Given the description of an element on the screen output the (x, y) to click on. 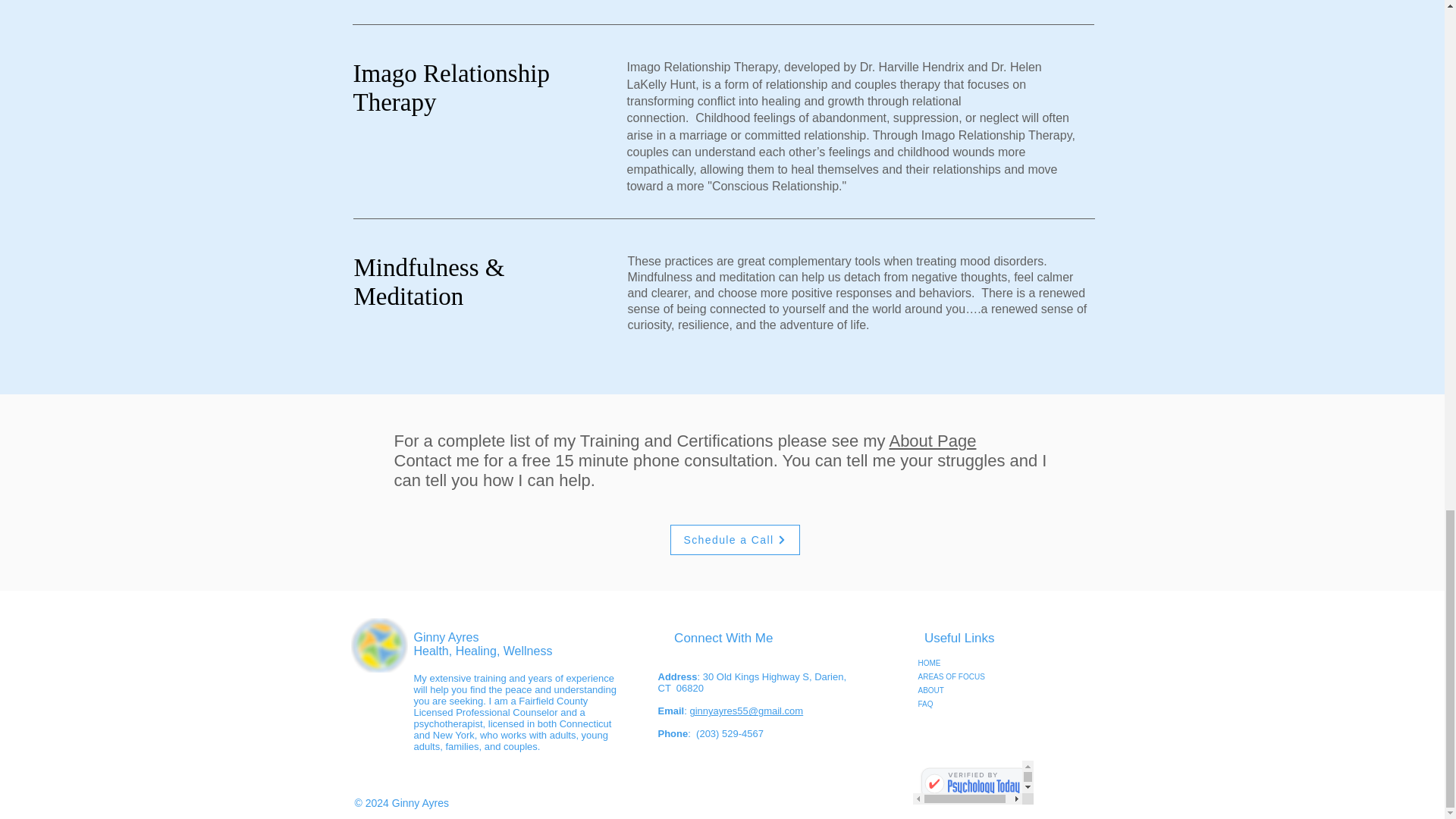
Schedule a Call (734, 539)
Embedded Content (972, 782)
HOME (999, 663)
FAQ (999, 704)
AREAS OF FOCUS (999, 676)
ABOUT (999, 690)
About Page (931, 440)
